Given the description of an element on the screen output the (x, y) to click on. 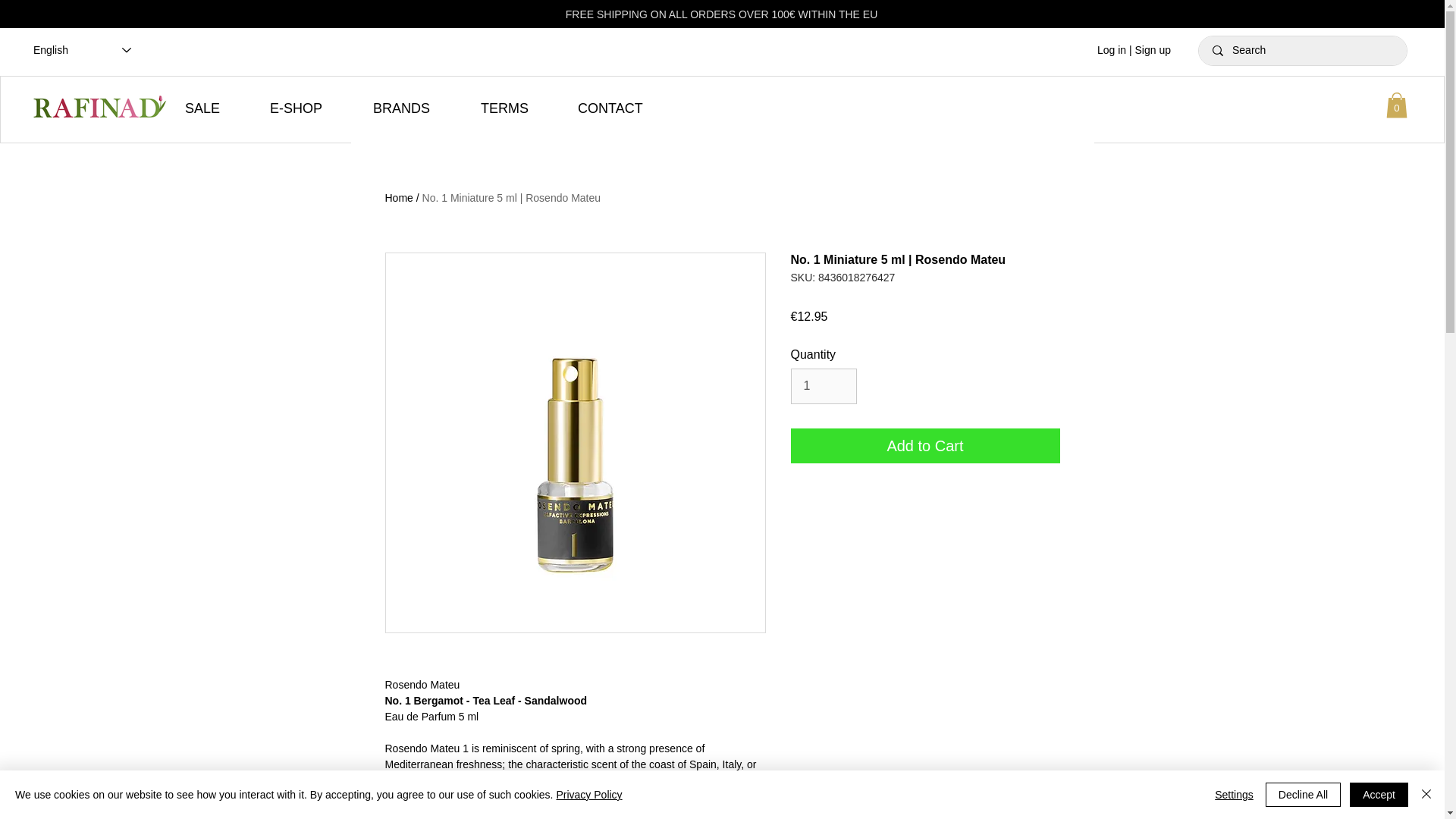
BRANDS (414, 108)
E-SHOP (310, 108)
SALE (216, 108)
1 (823, 385)
